Given the description of an element on the screen output the (x, y) to click on. 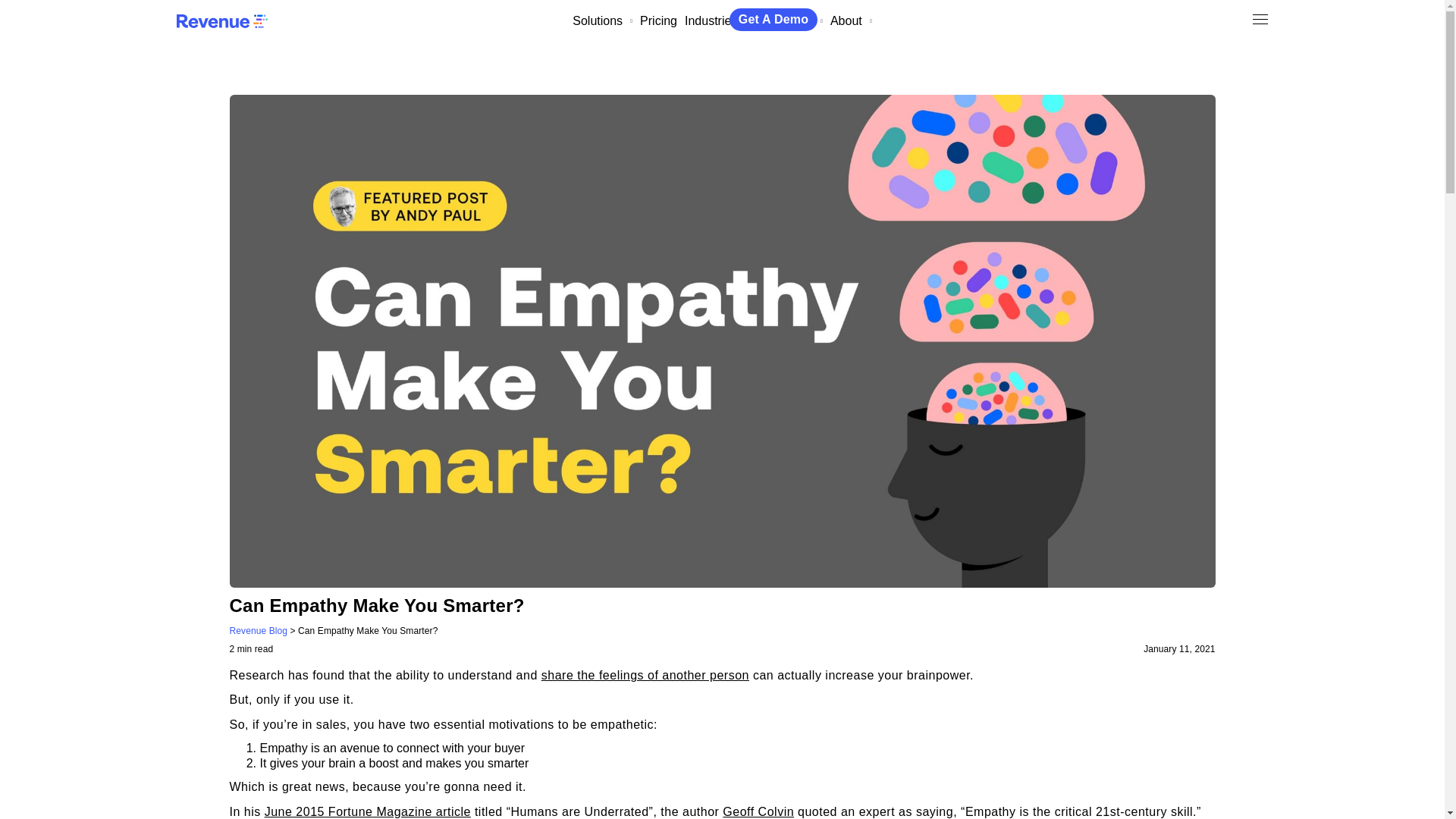
Geoff Colvin (757, 811)
Revenue Blog (257, 631)
Get A Demo (772, 19)
share the feelings of another person (645, 675)
June 2015 Fortune Magazine article (367, 811)
Pricing (658, 19)
